Given the description of an element on the screen output the (x, y) to click on. 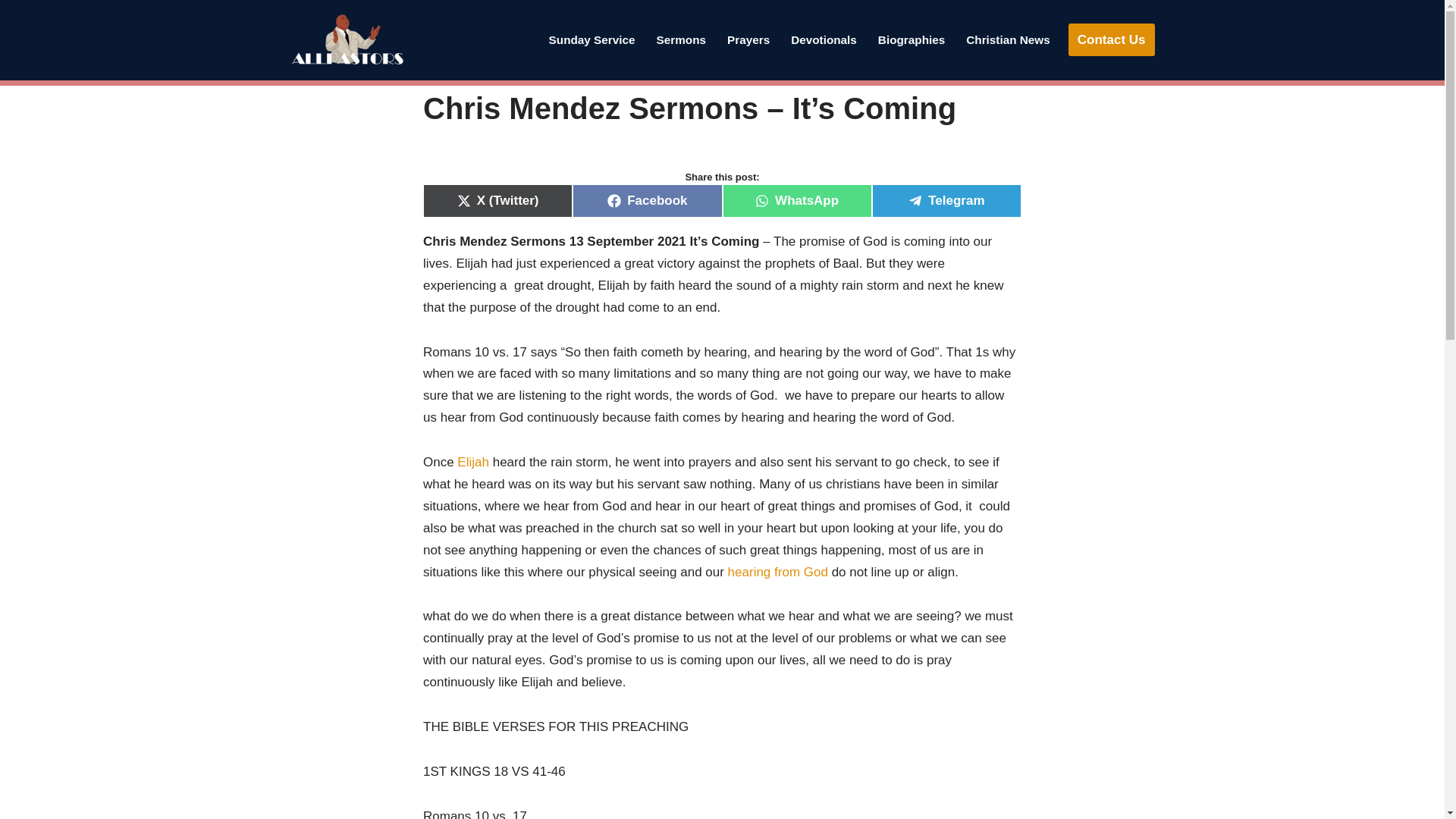
Facebook (647, 200)
Sermons (681, 39)
Elijah (473, 462)
WhatsApp (796, 200)
Biographies (910, 39)
Christian News (1007, 39)
Devotionals (823, 39)
Prayers (748, 39)
Skip to content (11, 31)
SERMONS ONLINE (681, 39)
